Given the description of an element on the screen output the (x, y) to click on. 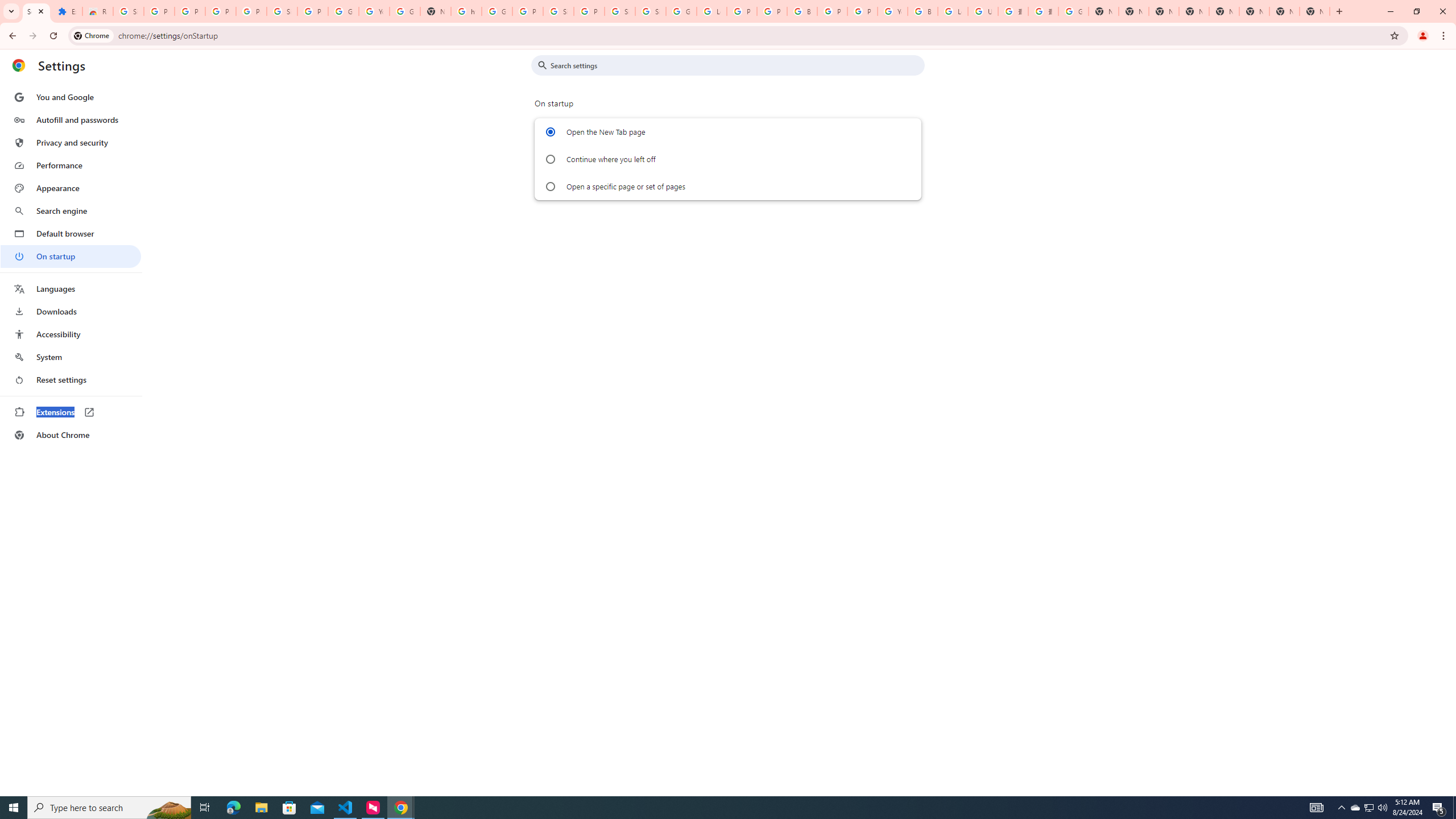
Autofill and passwords (70, 119)
You and Google (70, 96)
Sign in - Google Accounts (650, 11)
Continue where you left off (550, 159)
Browse Chrome as a guest - Computer - Google Chrome Help (922, 11)
Downloads (70, 311)
Appearance (70, 187)
Default browser (70, 233)
Languages (70, 288)
AutomationID: menu (71, 265)
